Given the description of an element on the screen output the (x, y) to click on. 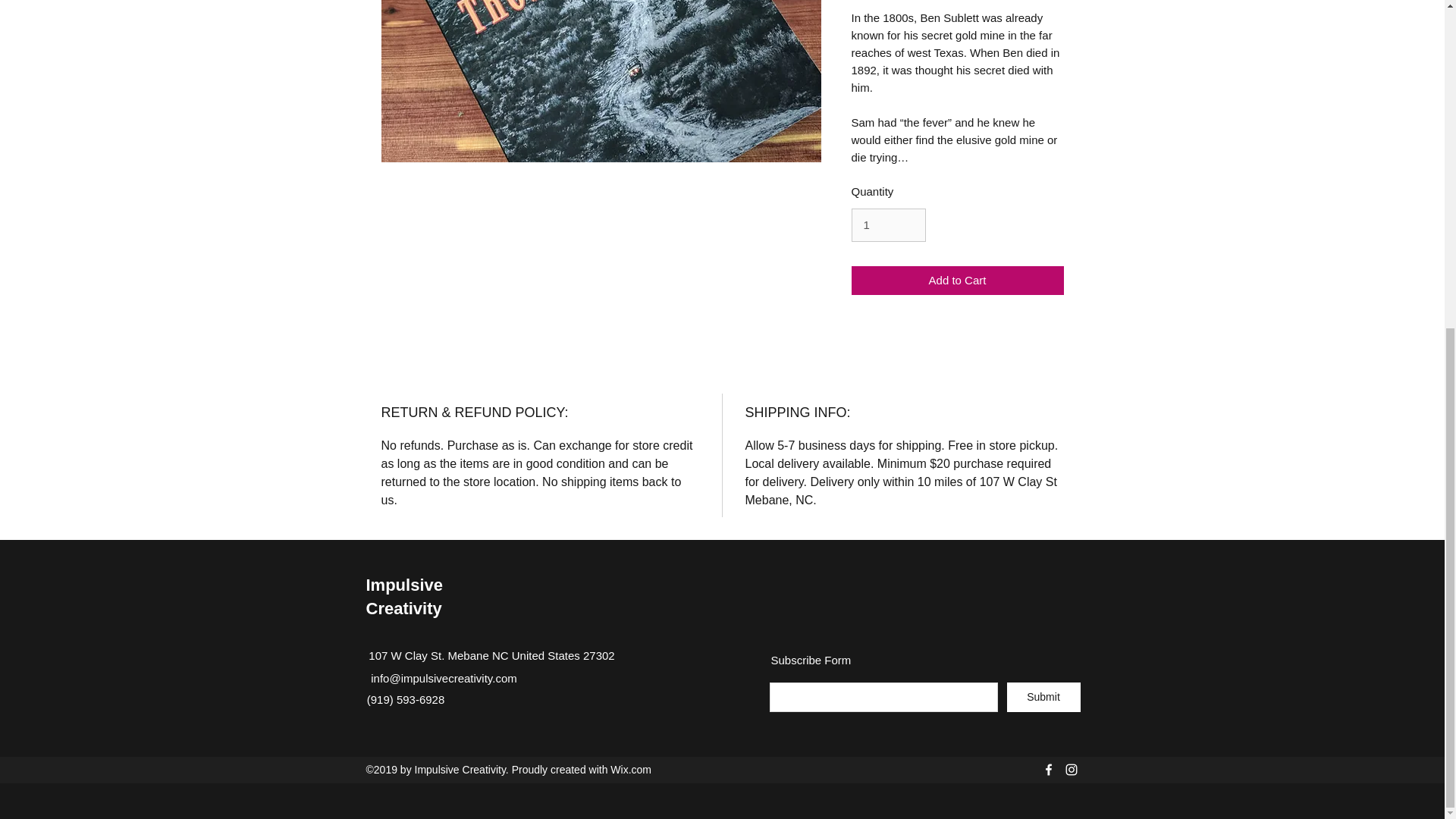
Submit (1043, 696)
1 (887, 224)
Add to Cart (956, 280)
Impulsive Creativity (403, 596)
